Given the description of an element on the screen output the (x, y) to click on. 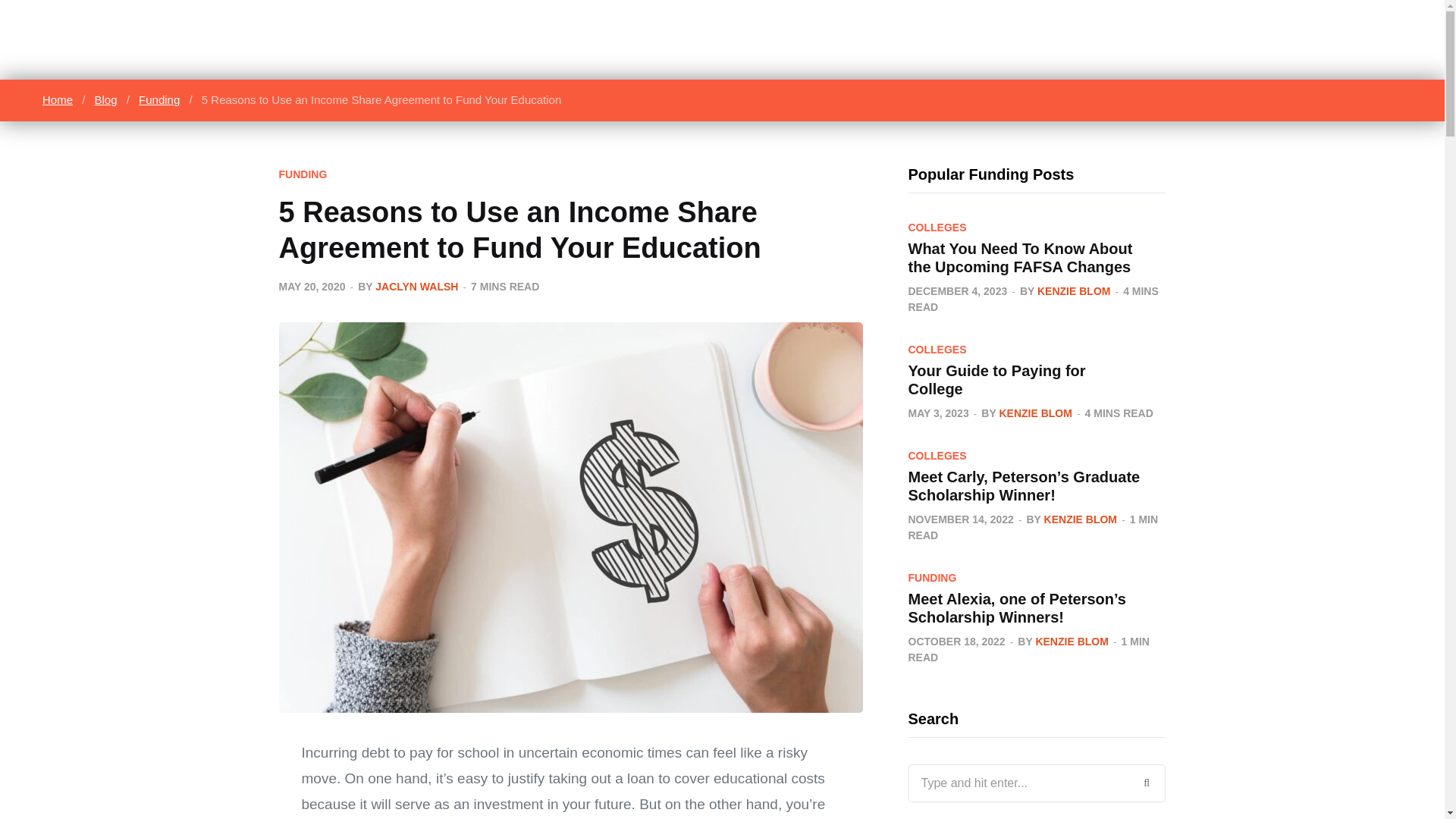
Posts by Jaclyn Walsh (416, 286)
Blog (105, 99)
KENZIE BLOM (1072, 291)
JACLYN WALSH (416, 286)
Funding (159, 99)
MAY 20, 2020 (312, 286)
Posts by Kenzie Blom (1072, 291)
What You Need To Know About the Upcoming FAFSA Changes (1020, 256)
FUNDING (303, 174)
DECEMBER 4, 2023 (957, 291)
COLLEGES (937, 227)
Home (57, 99)
